Given the description of an element on the screen output the (x, y) to click on. 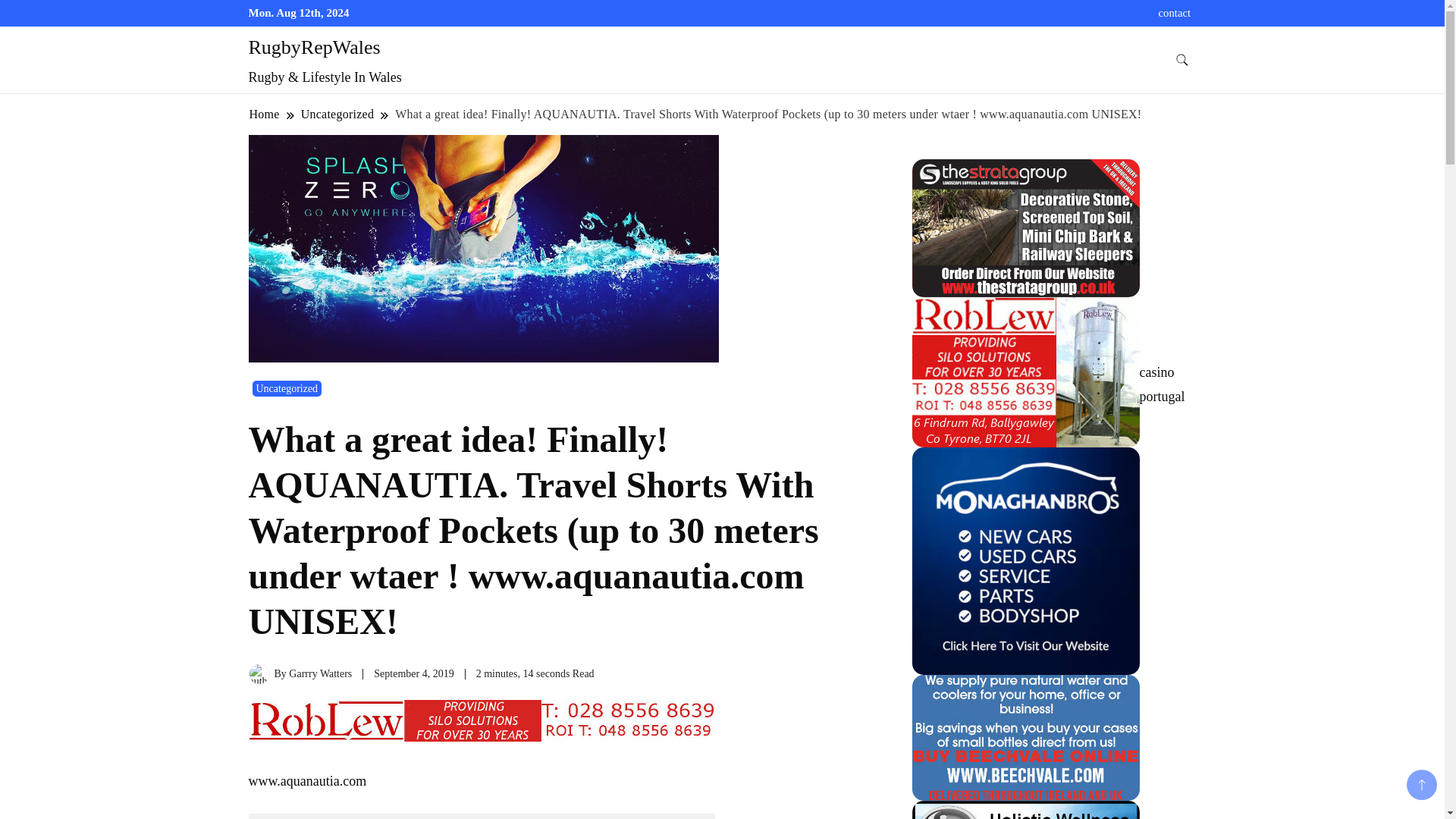
Uncategorized (286, 388)
Uncategorized (337, 114)
RugbyRepWales (314, 47)
Garrry Watters (320, 673)
September 4, 2019 (413, 673)
www.aquanautia.com (307, 780)
contact (1174, 12)
Home (264, 114)
